Given the description of an element on the screen output the (x, y) to click on. 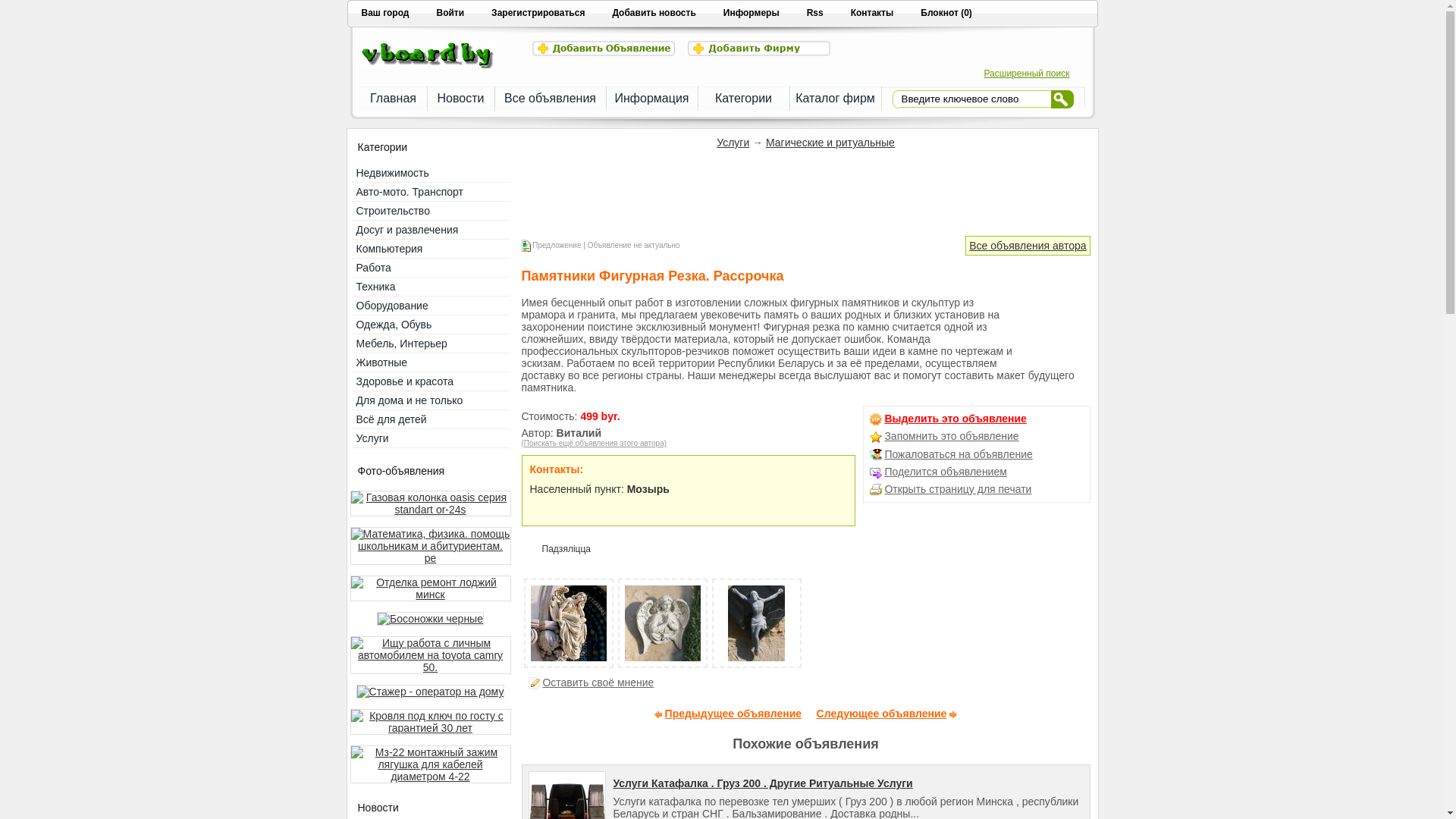
Twitter Element type: hover (636, 548)
Advertisement Element type: hover (797, 194)
Facebook Element type: hover (620, 548)
Jokerboard Element type: hover (427, 64)
LiveJournal Element type: hover (652, 548)
Rss Element type: text (814, 14)
